Given the description of an element on the screen output the (x, y) to click on. 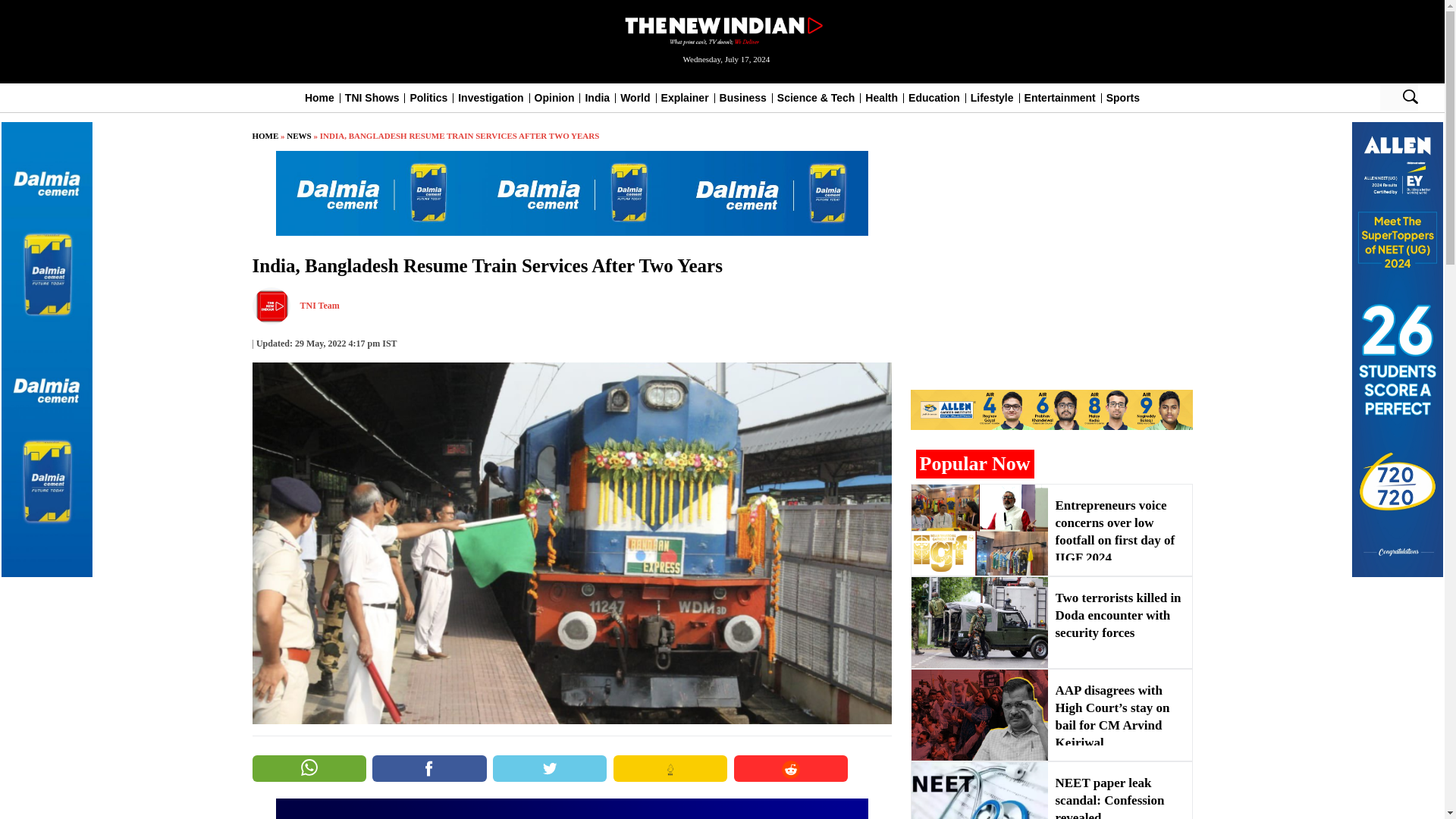
Entertainment (1060, 97)
GO (1410, 96)
Health (881, 97)
GO (1410, 96)
Share on koo-share (669, 768)
The New Indian (722, 29)
Explainer (685, 97)
Opinion (554, 97)
GO (1410, 96)
Share on Twitter (550, 768)
World (634, 97)
TNI Shows (371, 97)
Sports (1123, 97)
Business (743, 97)
The New Indian (722, 29)
